Given the description of an element on the screen output the (x, y) to click on. 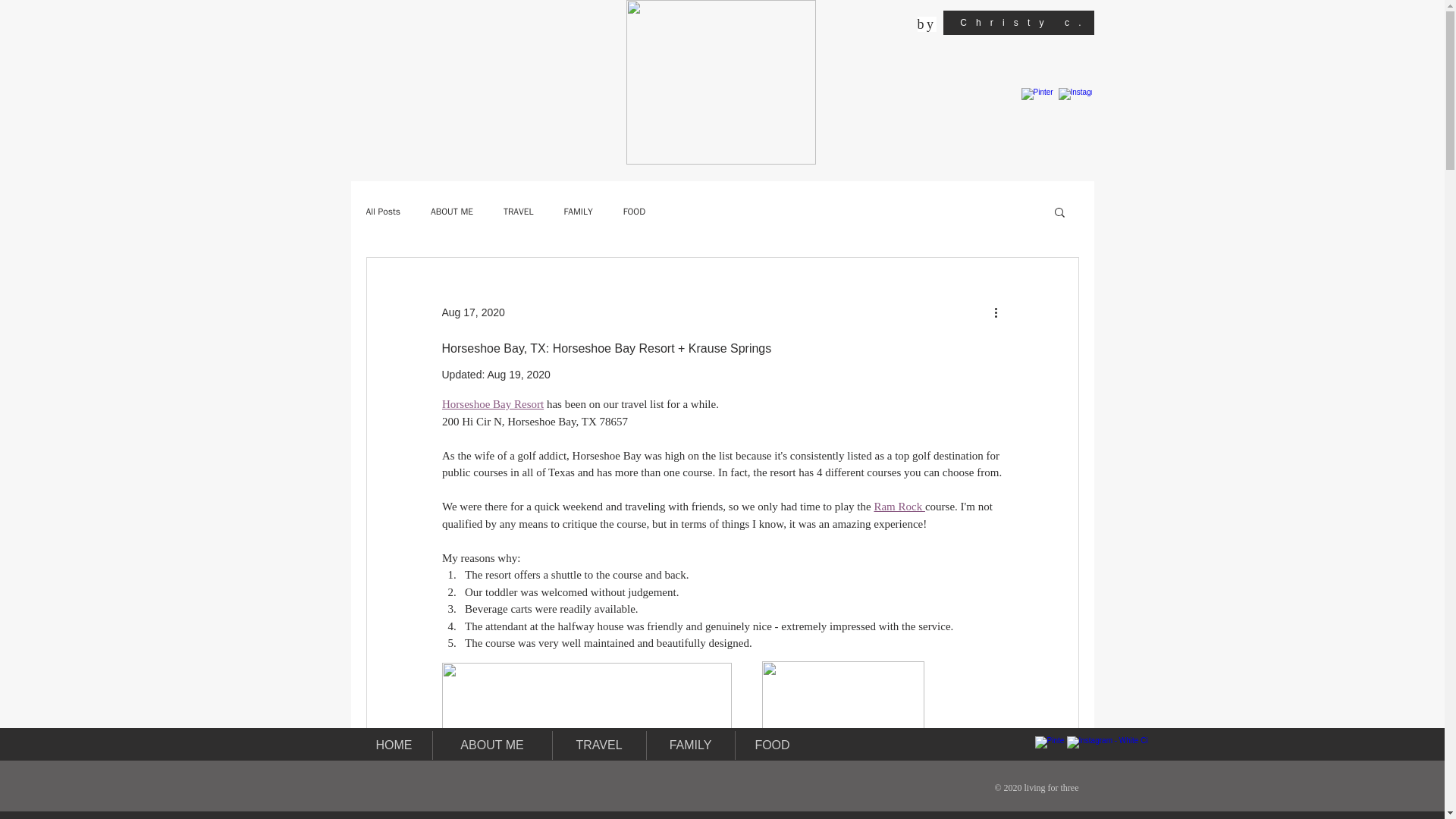
by (926, 23)
TRAVEL (598, 745)
HOME (394, 745)
Aug 17, 2020 (472, 312)
Horseshoe Bay Resort (492, 404)
All Posts (382, 210)
ABOUT ME (491, 745)
FOOD (634, 210)
ABOUT ME (451, 210)
TRAVEL (518, 210)
FAMILY (689, 745)
FOOD (772, 745)
FAMILY (578, 210)
Ram Rock  (898, 506)
Aug 19, 2020 (518, 374)
